Given the description of an element on the screen output the (x, y) to click on. 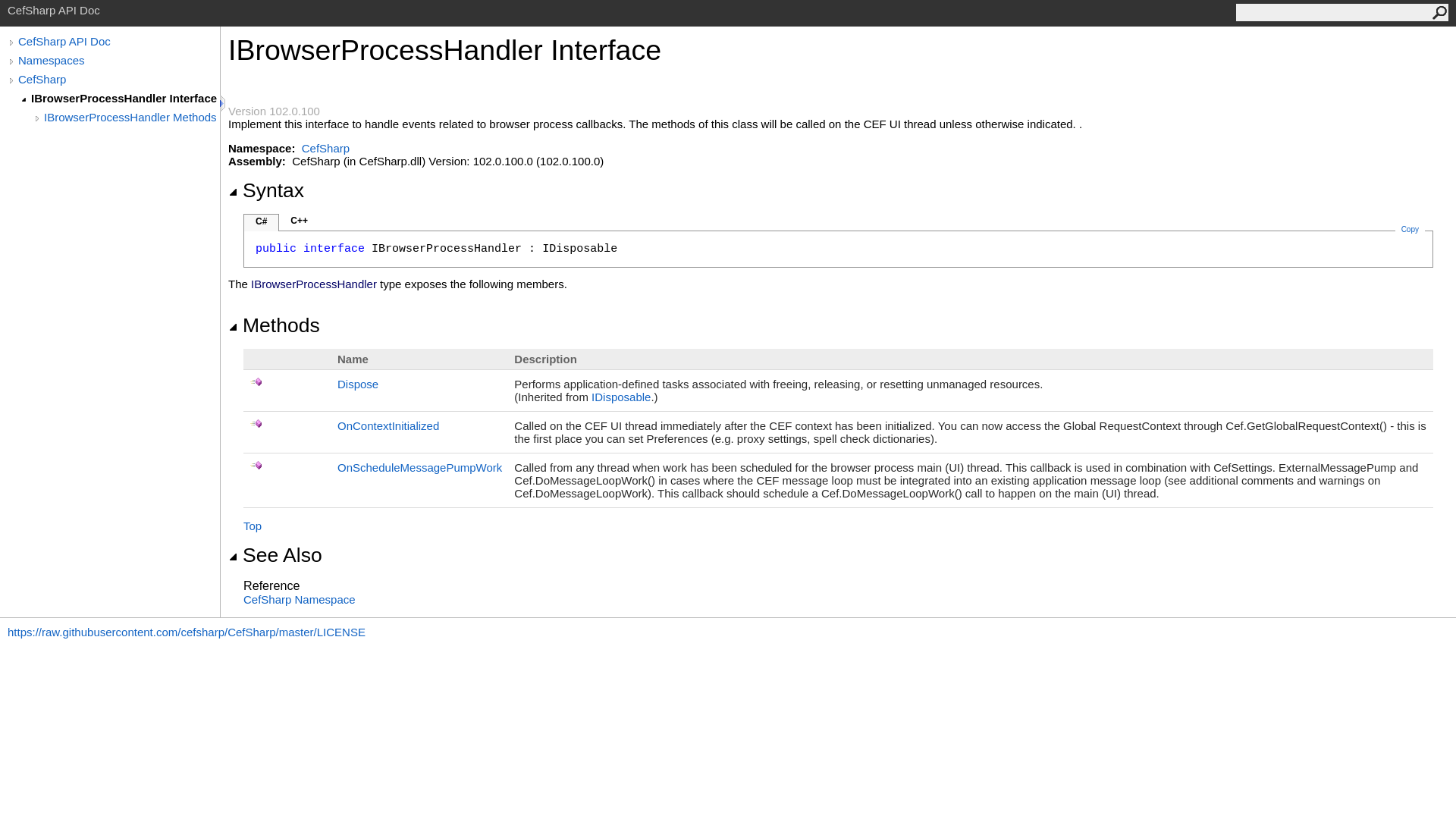
CefSharp (325, 147)
Namespaces (118, 60)
IBrowserProcessHandler Interface (124, 97)
CefSharp API Doc (118, 41)
Dispose (357, 383)
Public method (256, 423)
Public method (256, 465)
Top (252, 525)
Public method (256, 381)
IBrowserProcessHandler Methods (131, 116)
